Given the description of an element on the screen output the (x, y) to click on. 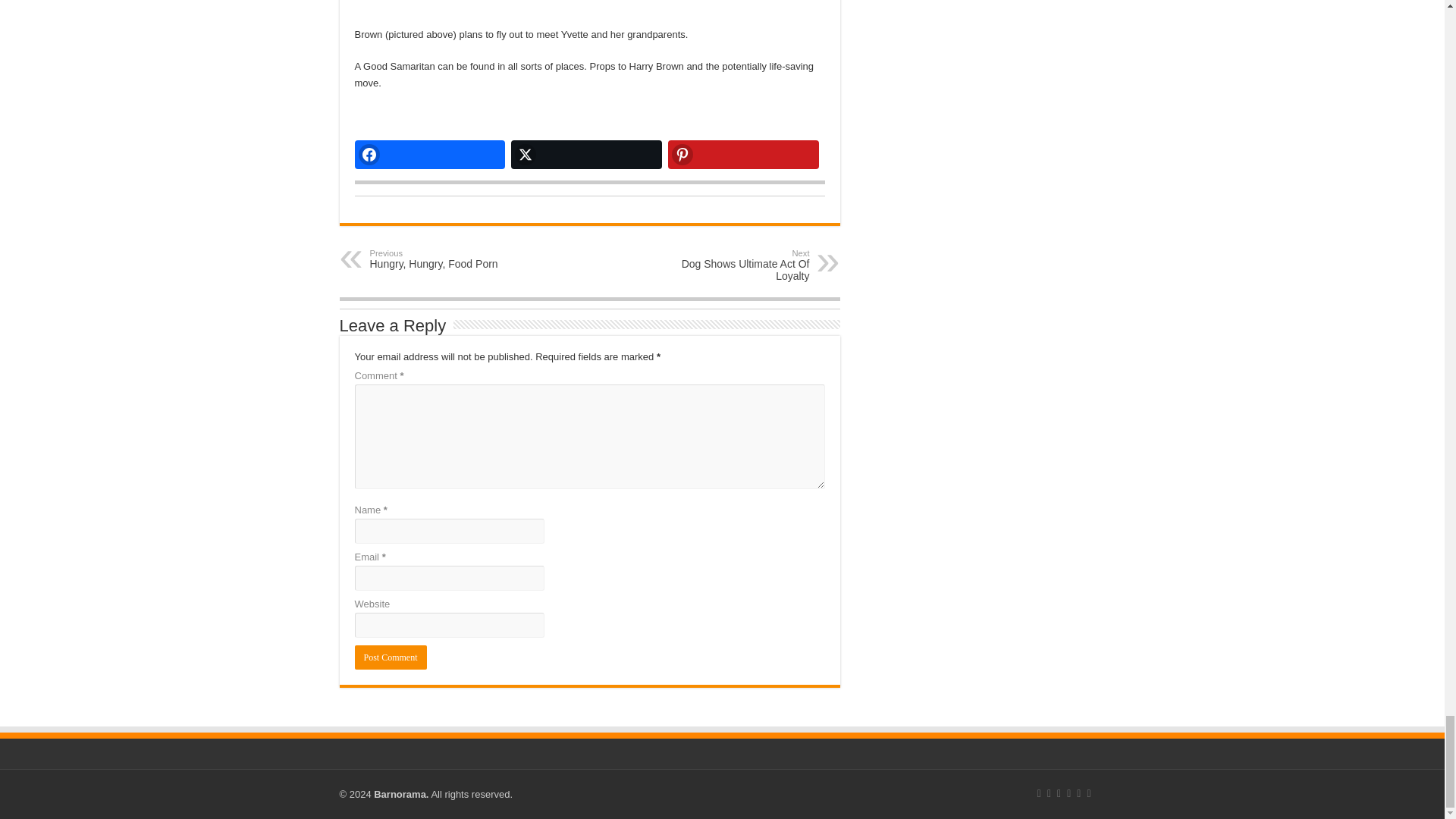
Post Comment (390, 657)
